Given the description of an element on the screen output the (x, y) to click on. 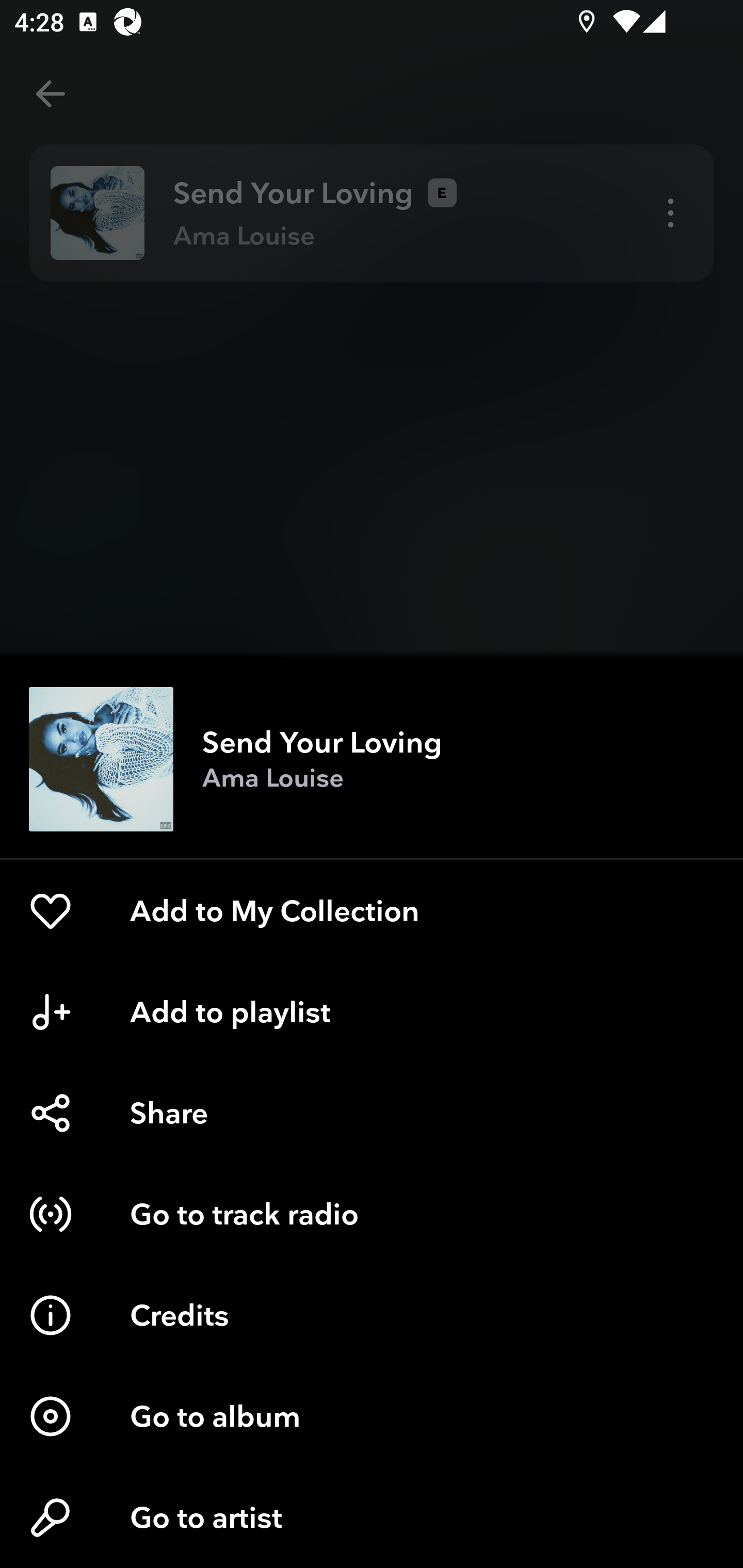
Add to My Collection (371, 910)
Add to playlist (371, 1012)
Share (371, 1113)
Go to track radio (371, 1214)
Credits (371, 1315)
Go to album (371, 1416)
Go to artist (371, 1517)
